Given the description of an element on the screen output the (x, y) to click on. 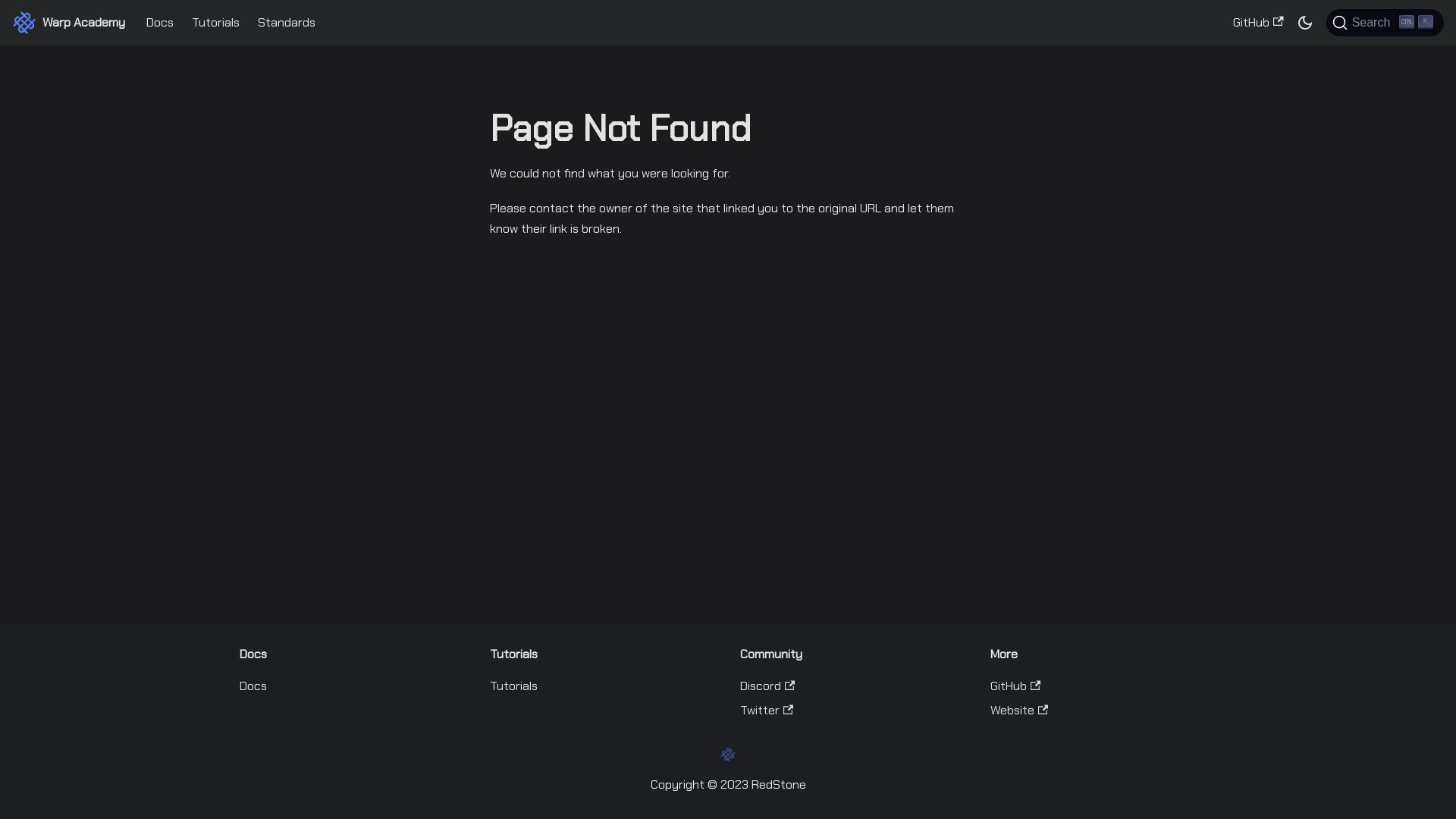
Docs Element type: text (159, 22)
Search
K Element type: text (1384, 22)
Switch between dark and light mode (currently dark mode) Element type: hover (1304, 22)
Tutorials Element type: text (215, 22)
Docs Element type: text (252, 685)
Standards Element type: text (286, 22)
Website Element type: text (1019, 710)
Warp Academy Element type: text (68, 22)
GitHub Element type: text (1015, 685)
GitHub Element type: text (1257, 22)
Discord Element type: text (767, 685)
Twitter Element type: text (766, 710)
Tutorials Element type: text (513, 685)
